Given the description of an element on the screen output the (x, y) to click on. 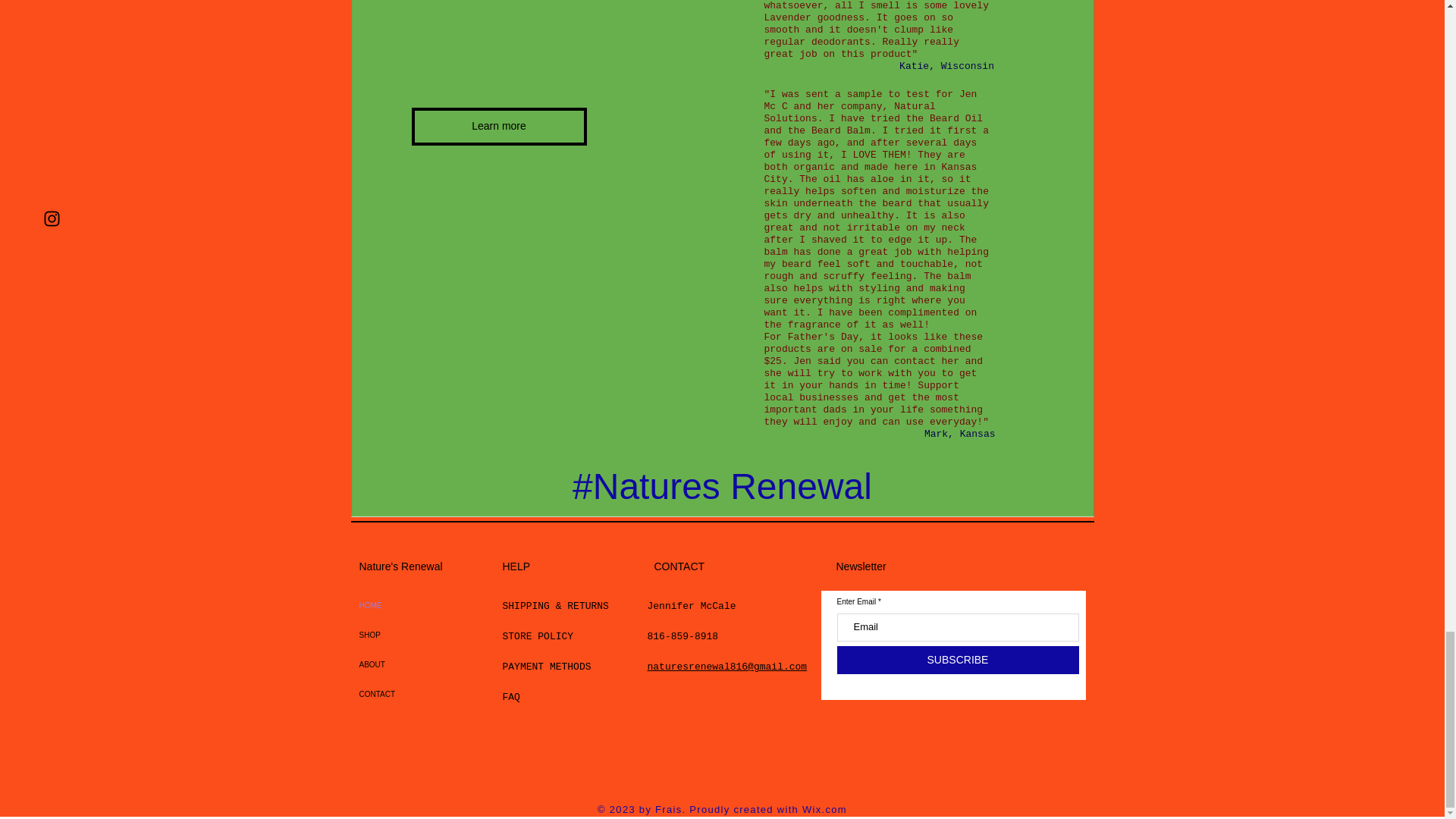
HOME (393, 604)
Wix.com (824, 808)
PAYMENT METHODS (546, 666)
STORE POLICY  (540, 636)
ABOUT (393, 664)
SUBSCRIBE (957, 660)
Learn more (498, 126)
Natural Solutions (850, 112)
Jen Mc C (870, 100)
SHOP (393, 634)
